Given the description of an element on the screen output the (x, y) to click on. 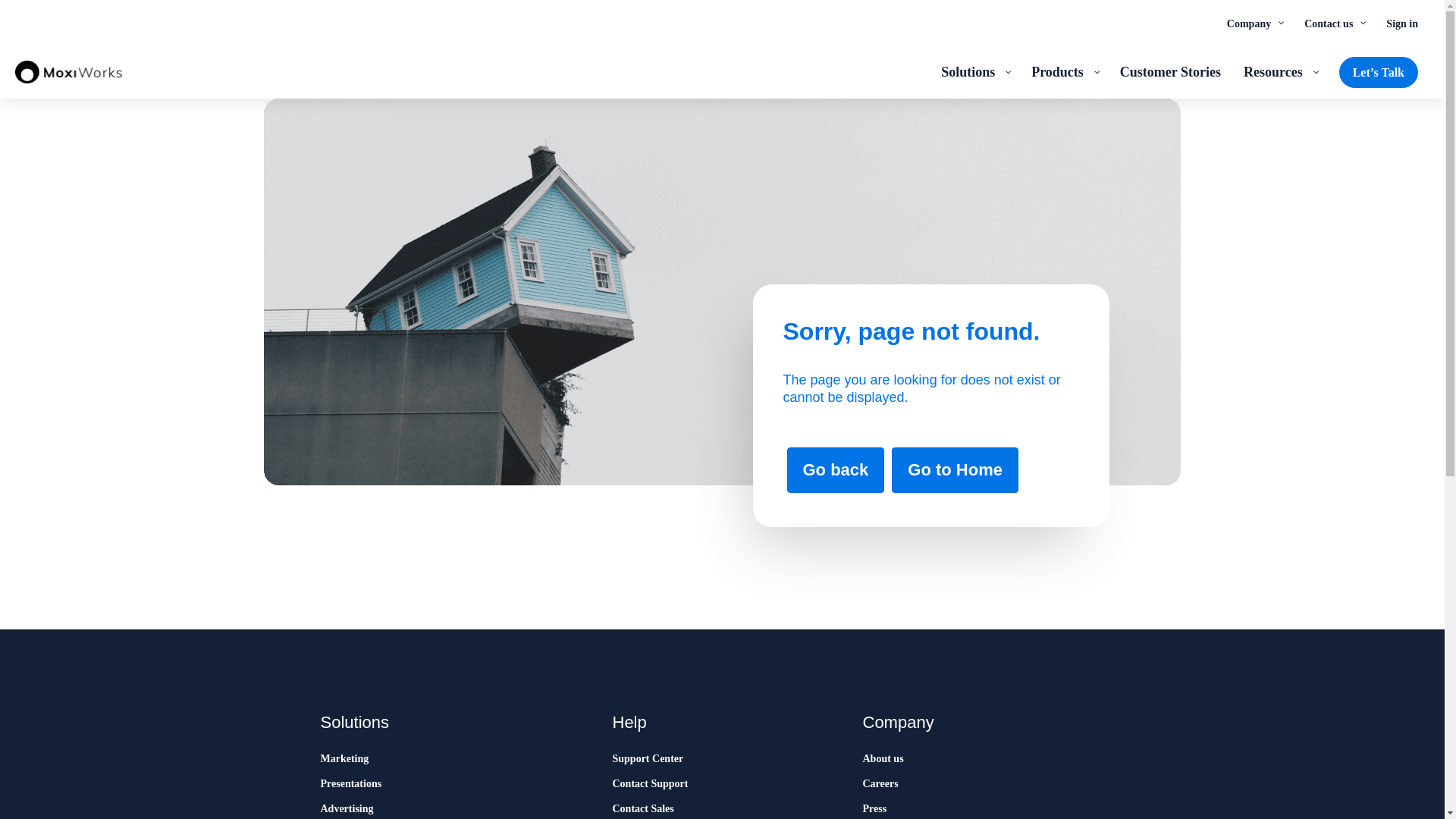
Sign in (1401, 22)
Contact us (1333, 22)
Solutions (975, 72)
Products (1064, 72)
Company (1253, 22)
